Given the description of an element on the screen output the (x, y) to click on. 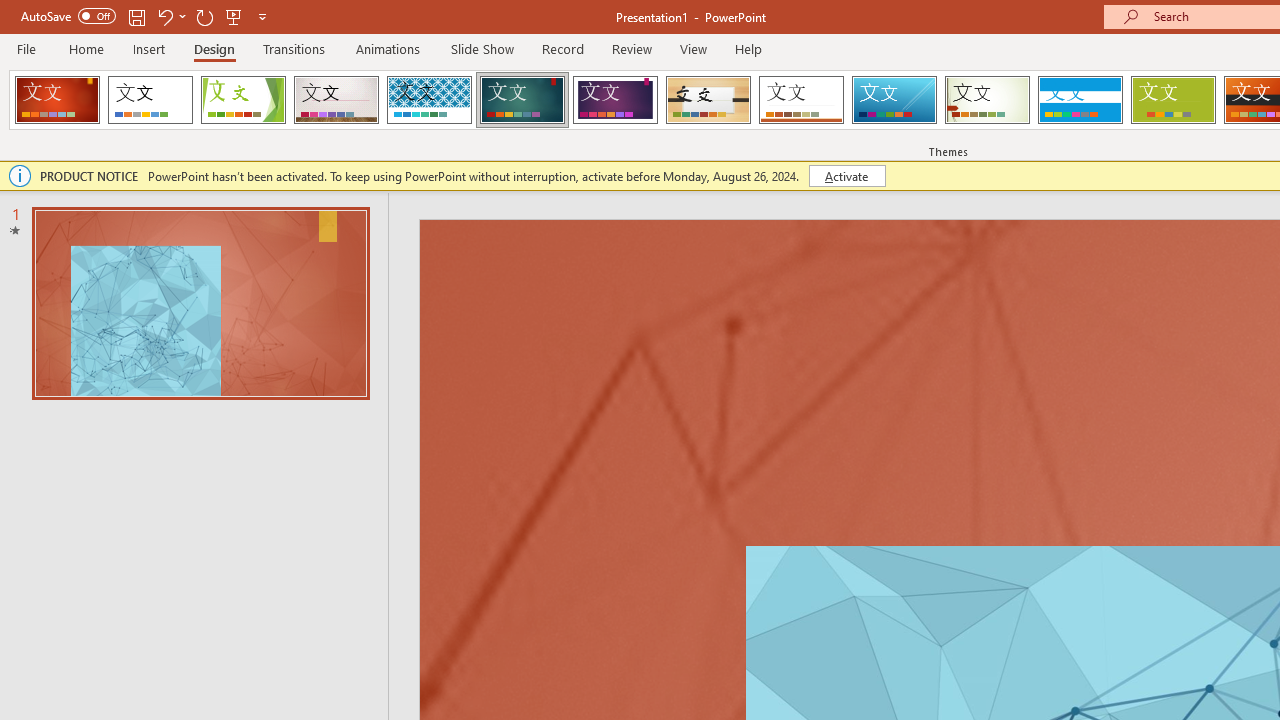
Slice (893, 100)
Activate (846, 175)
Retrospect (801, 100)
Organic (708, 100)
Wisp (987, 100)
